Given the description of an element on the screen output the (x, y) to click on. 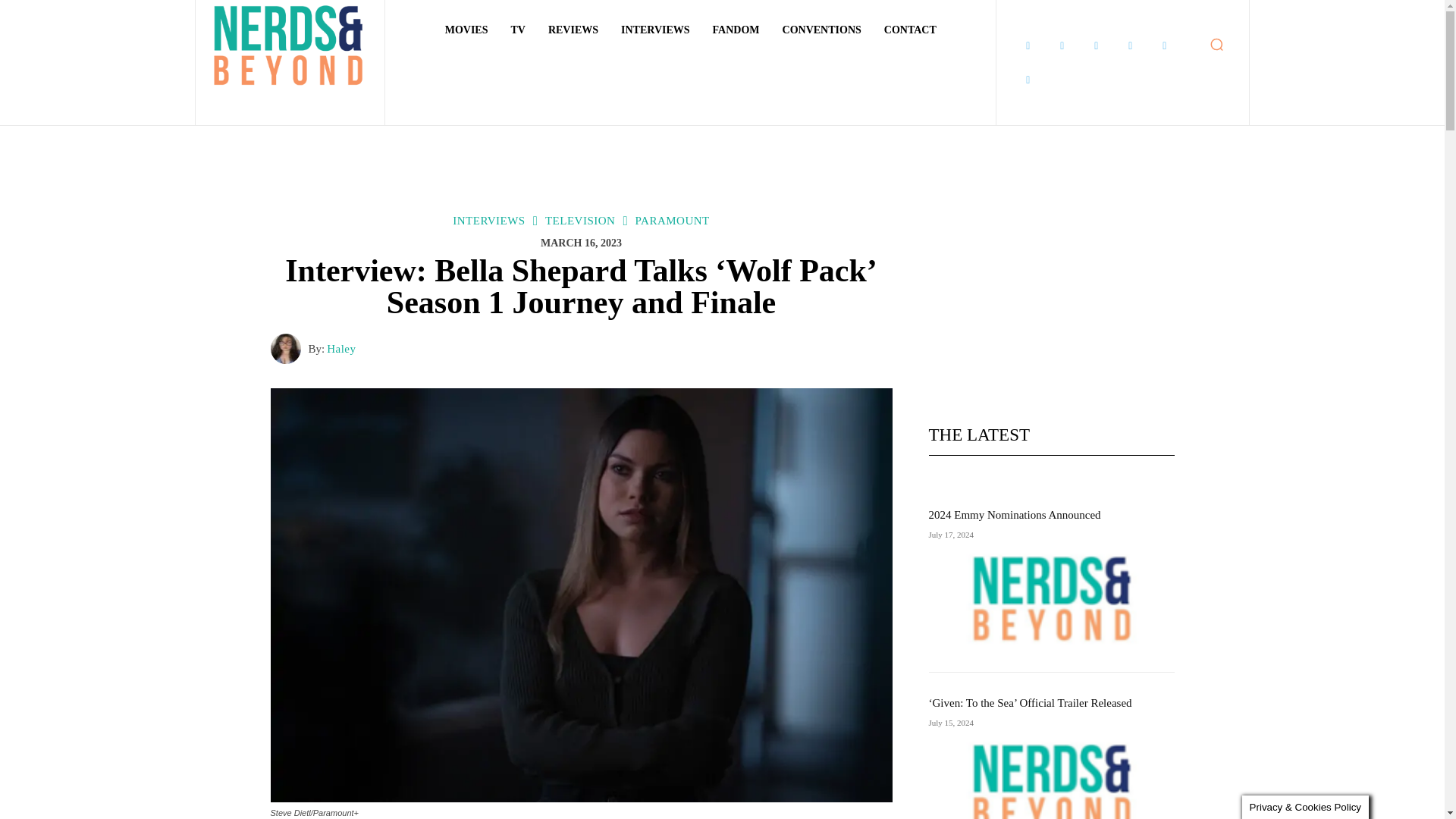
Twitter (1164, 45)
Mail (1096, 45)
Instagram (1061, 45)
Haley (288, 348)
TikTok (1129, 45)
Facebook (1027, 45)
Youtube (1027, 79)
